Given the description of an element on the screen output the (x, y) to click on. 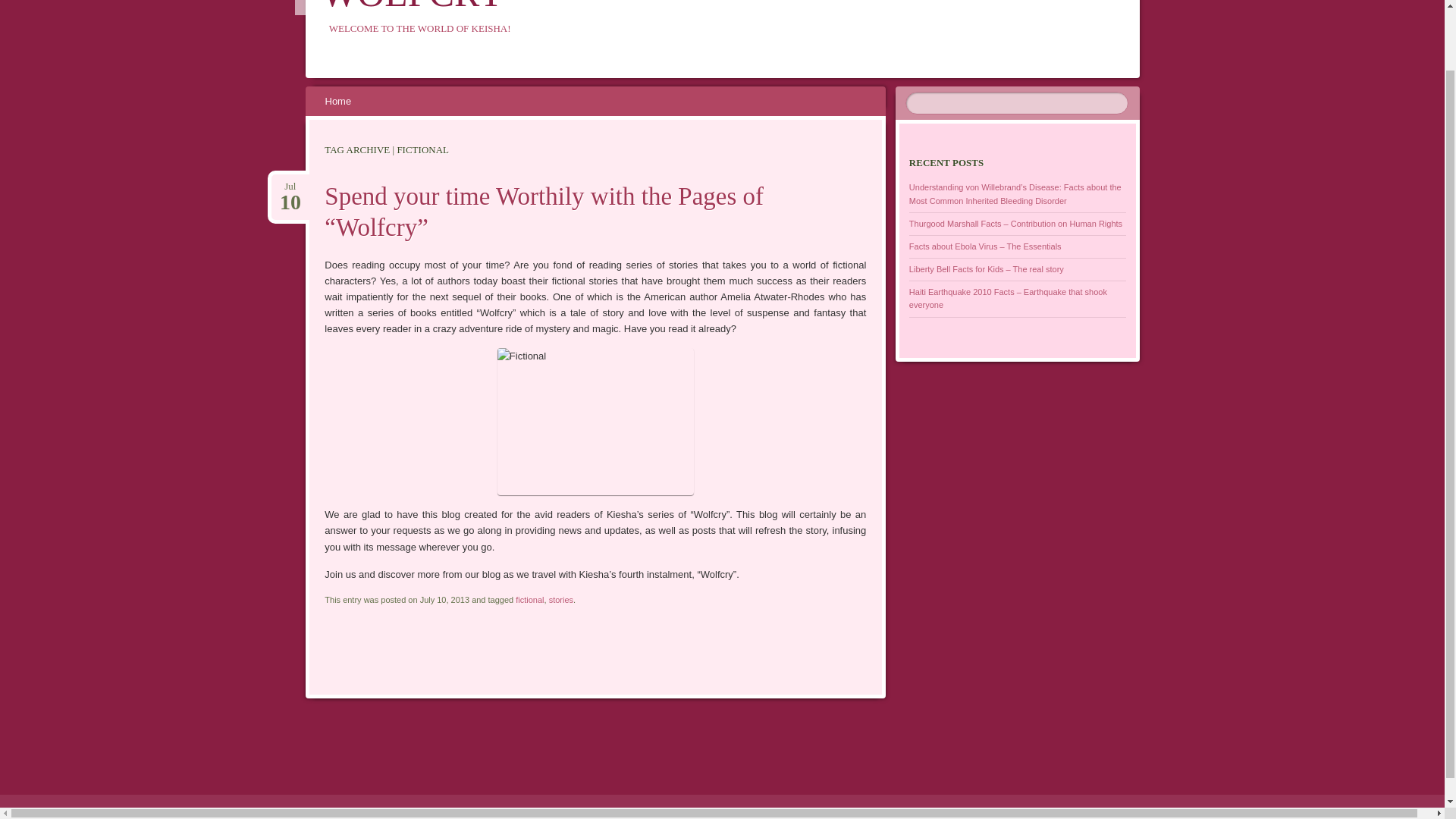
Proudly powered by WordPress (289, 186)
July 10, 2013 (108, 810)
WordPress.com (289, 186)
WOLFCRY (277, 810)
Wolfcry (413, 7)
Skip to content (413, 7)
stories (347, 101)
fictional (560, 599)
Home (529, 599)
Semantic Personal Publishing Platform (338, 101)
Skip to content (108, 810)
